Given the description of an element on the screen output the (x, y) to click on. 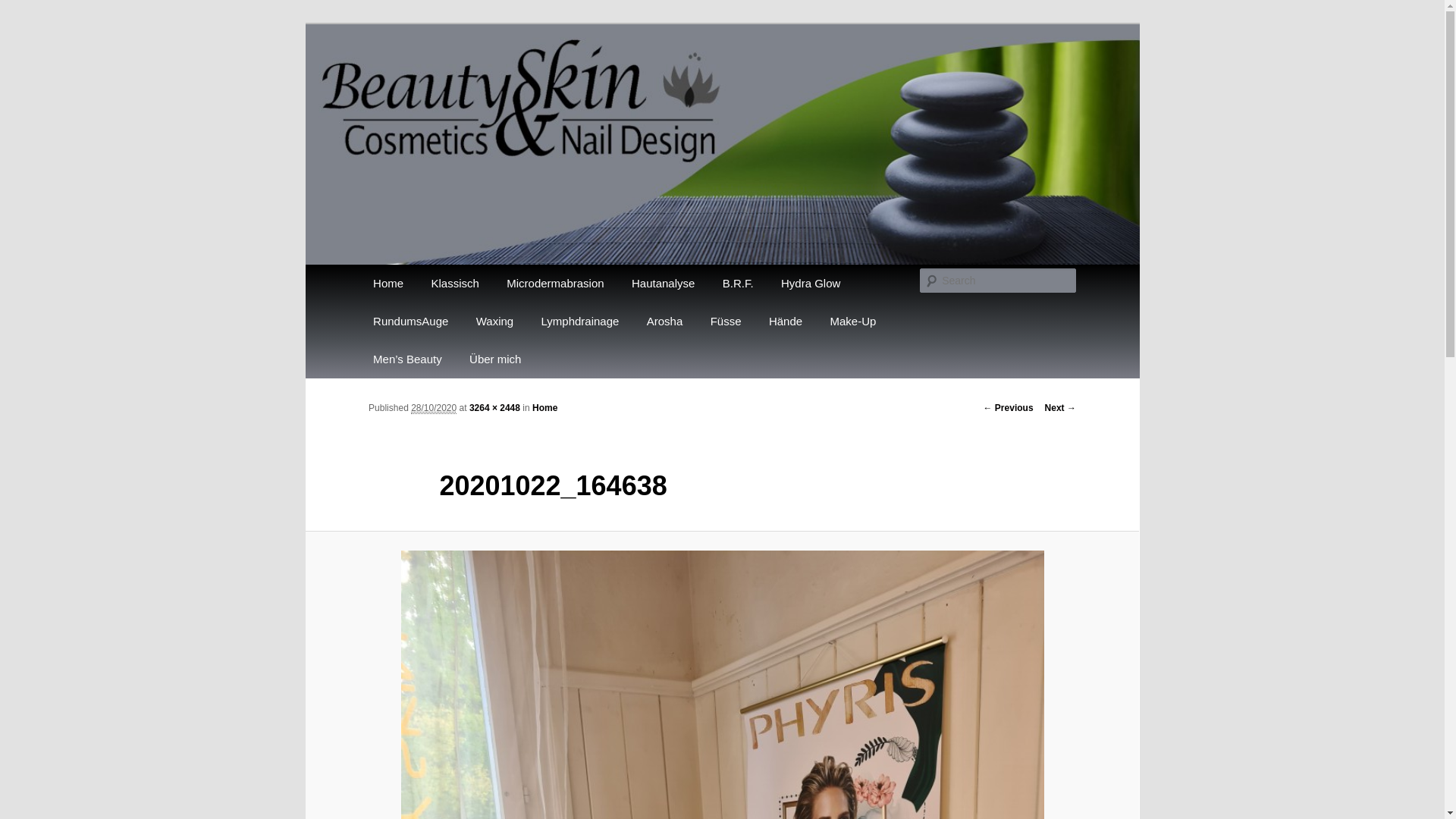
Microdermabrasion Element type: text (555, 283)
Make-Up Element type: text (852, 321)
Hydra Glow Element type: text (810, 283)
Search Element type: text (24, 8)
Waxing Element type: text (494, 321)
B.R.F. Element type: text (738, 283)
Skip to primary content Element type: text (440, 283)
Home Element type: text (544, 407)
RundumsAuge Element type: text (410, 321)
Lymphdrainage Element type: text (579, 321)
Klassisch Element type: text (454, 283)
Arosha Element type: text (664, 321)
Hautanalyse Element type: text (663, 283)
Home Element type: text (388, 283)
